Given the description of an element on the screen output the (x, y) to click on. 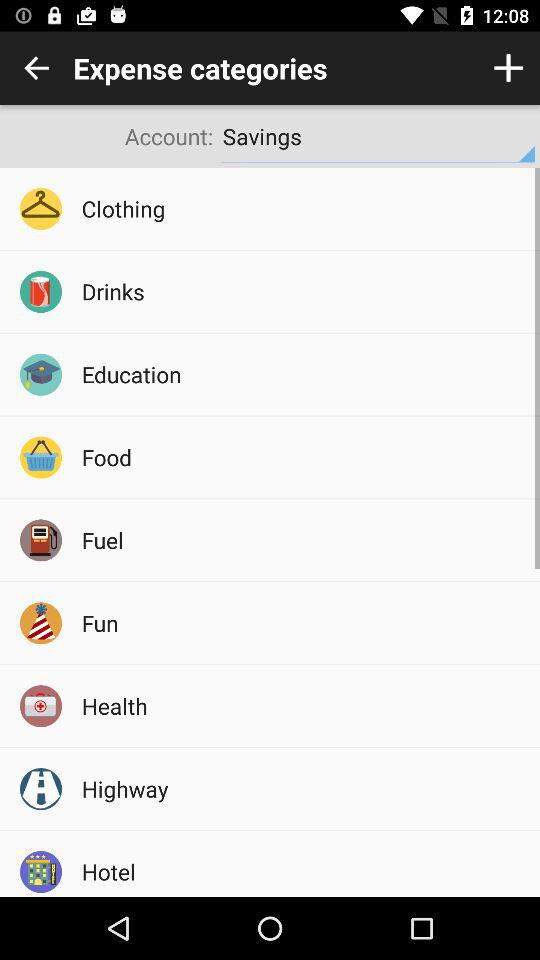
tap the drinks (303, 291)
